Given the description of an element on the screen output the (x, y) to click on. 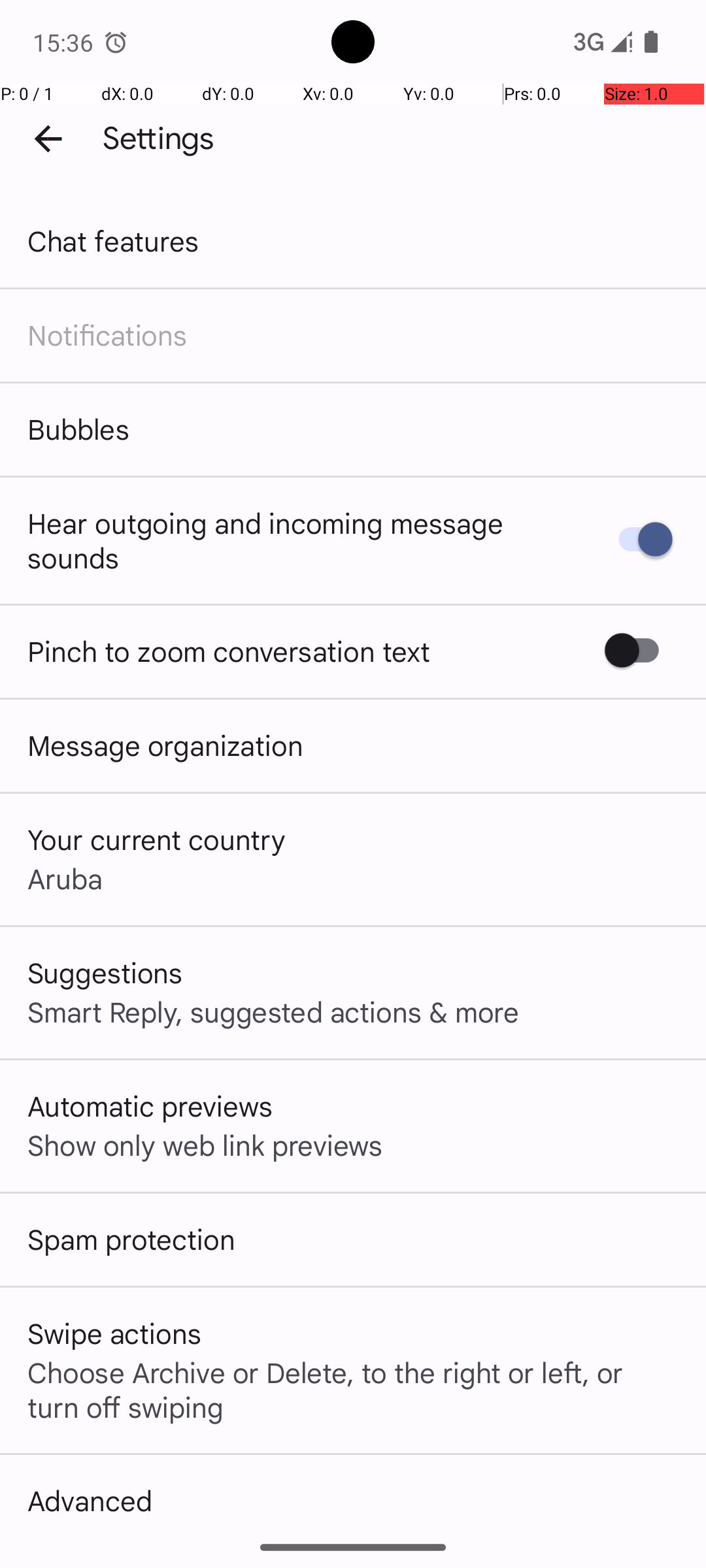
Chat features Element type: android.widget.TextView (113, 240)
Hear outgoing and incoming message sounds Element type: android.widget.TextView (299, 539)
Pinch to zoom conversation text Element type: android.widget.TextView (228, 650)
Message organization Element type: android.widget.TextView (165, 744)
Your current country Element type: android.widget.TextView (156, 838)
Aruba Element type: android.widget.TextView (64, 877)
Smart Reply, suggested actions & more Element type: android.widget.TextView (273, 1010)
Automatic previews Element type: android.widget.TextView (149, 1105)
Show only web link previews Element type: android.widget.TextView (205, 1144)
Spam protection Element type: android.widget.TextView (131, 1238)
Swipe actions Element type: android.widget.TextView (114, 1332)
Choose Archive or Delete, to the right or left, or turn off swiping Element type: android.widget.TextView (352, 1388)
